Given the description of an element on the screen output the (x, y) to click on. 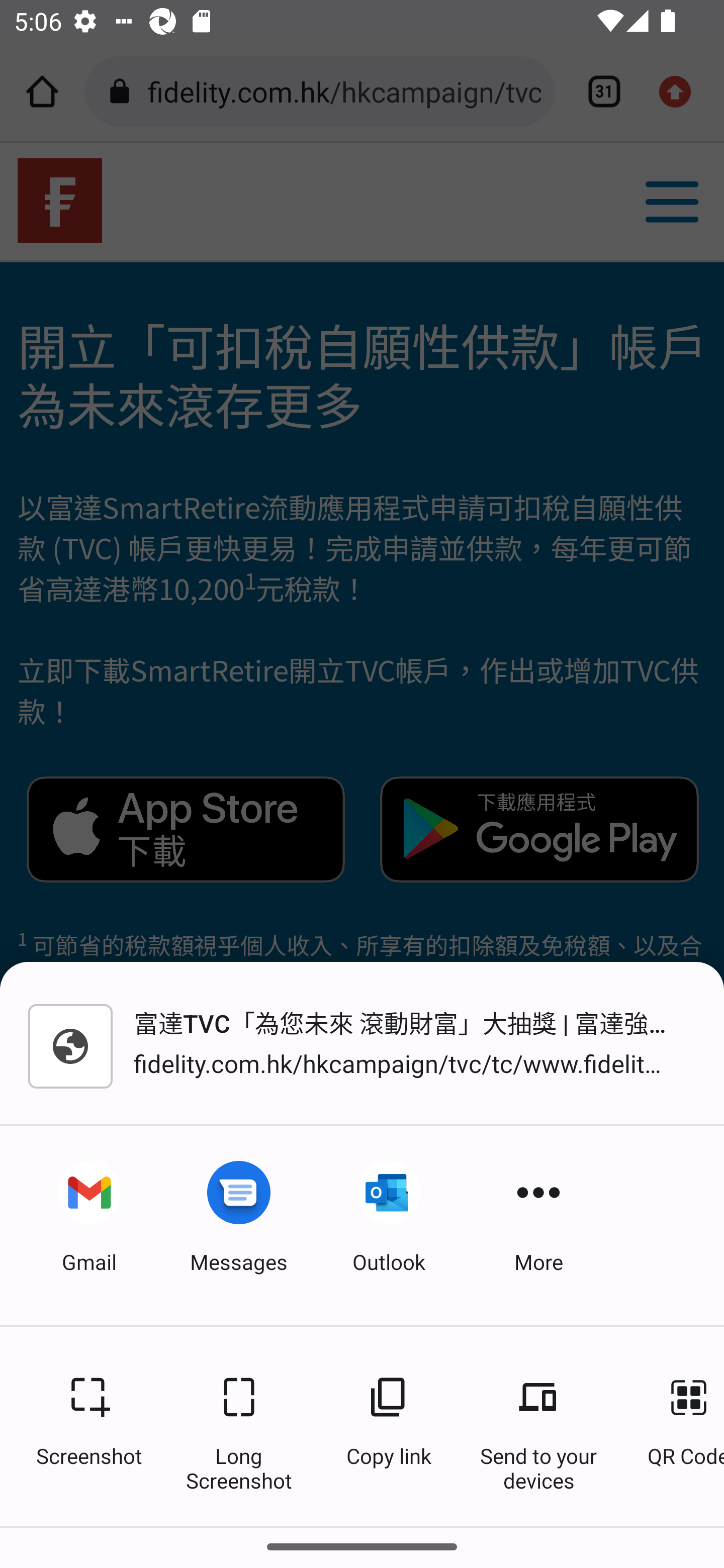
Gmail (88, 1224)
Messages (238, 1224)
Outlook (388, 1224)
More (538, 1224)
Screenshot (88, 1425)
Long Screenshot (238, 1425)
Copy link (388, 1425)
Send to your devices (538, 1425)
QR Code (675, 1425)
